Given the description of an element on the screen output the (x, y) to click on. 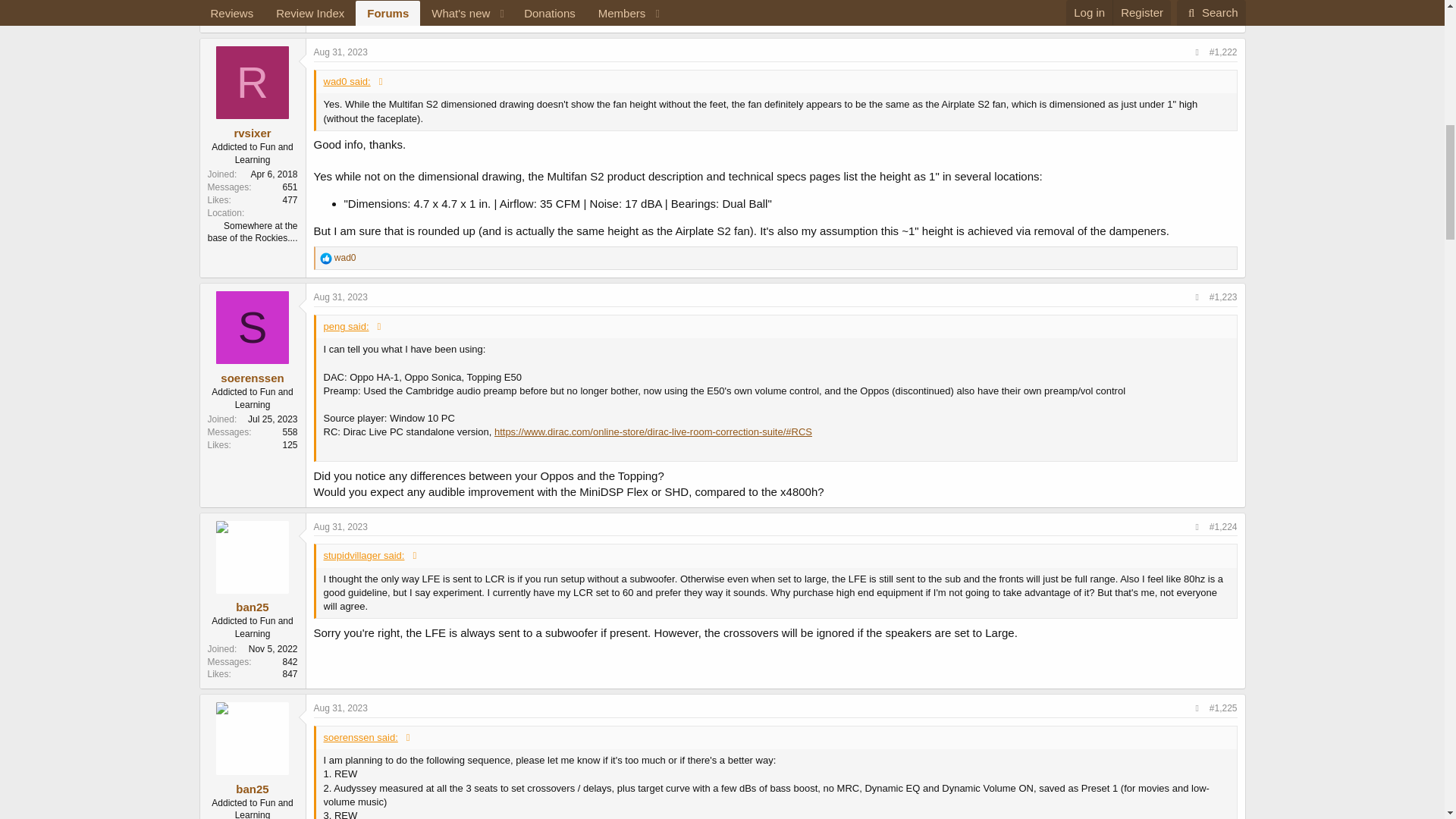
Aug 31, 2023 at 3:20 PM (341, 296)
Like (325, 13)
Aug 31, 2023 at 4:17 PM (341, 526)
Aug 31, 2023 at 3:09 PM (341, 51)
Like (325, 258)
Aug 31, 2023 at 4:47 PM (341, 707)
